Given the description of an element on the screen output the (x, y) to click on. 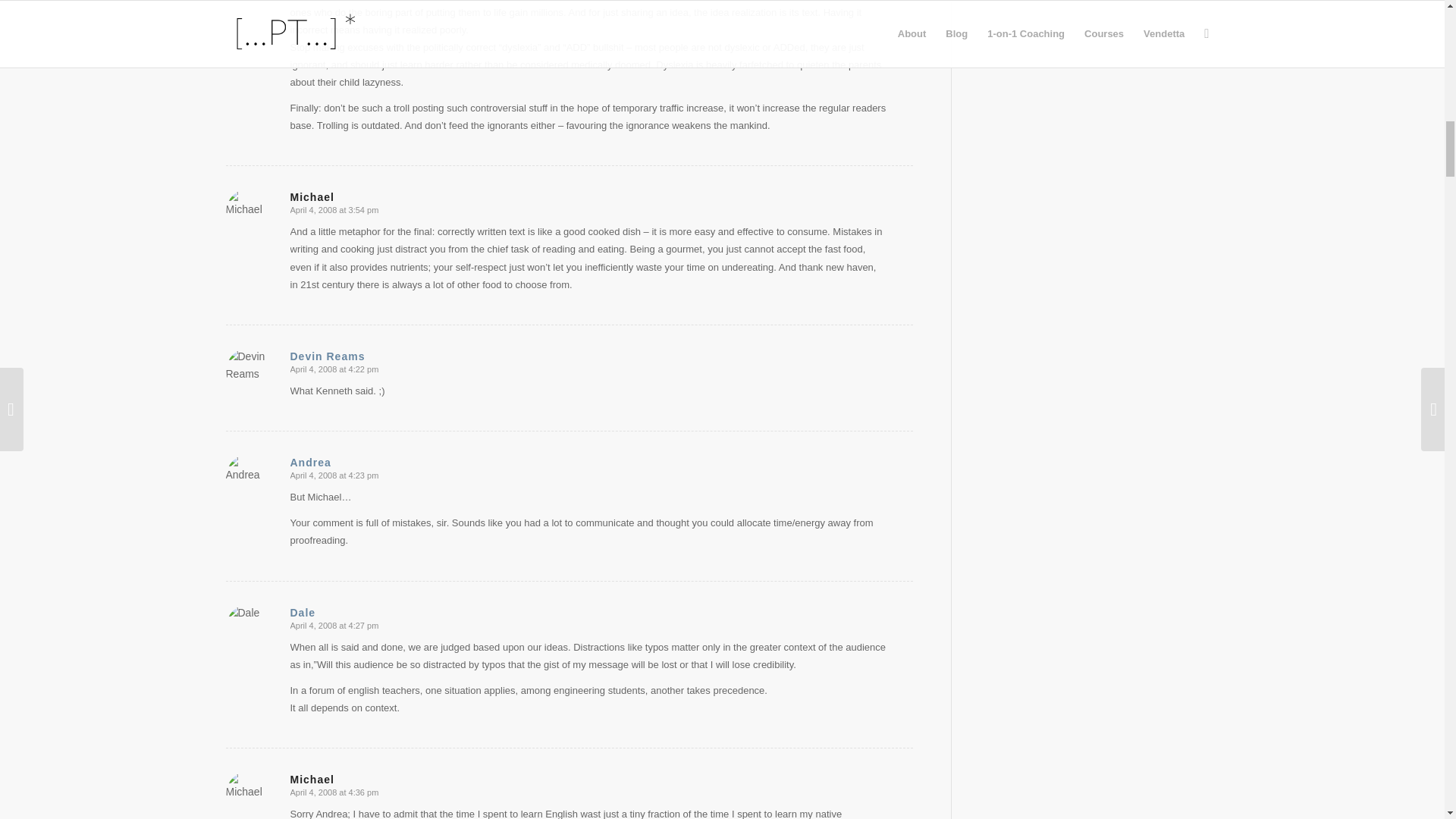
Devin Reams (327, 356)
April 4, 2008 at 4:22 pm (333, 368)
Dale (302, 612)
Andrea (309, 462)
April 4, 2008 at 4:27 pm (333, 624)
April 4, 2008 at 3:54 pm (333, 209)
April 4, 2008 at 4:23 pm (333, 474)
April 4, 2008 at 4:36 pm (333, 791)
